Given the description of an element on the screen output the (x, y) to click on. 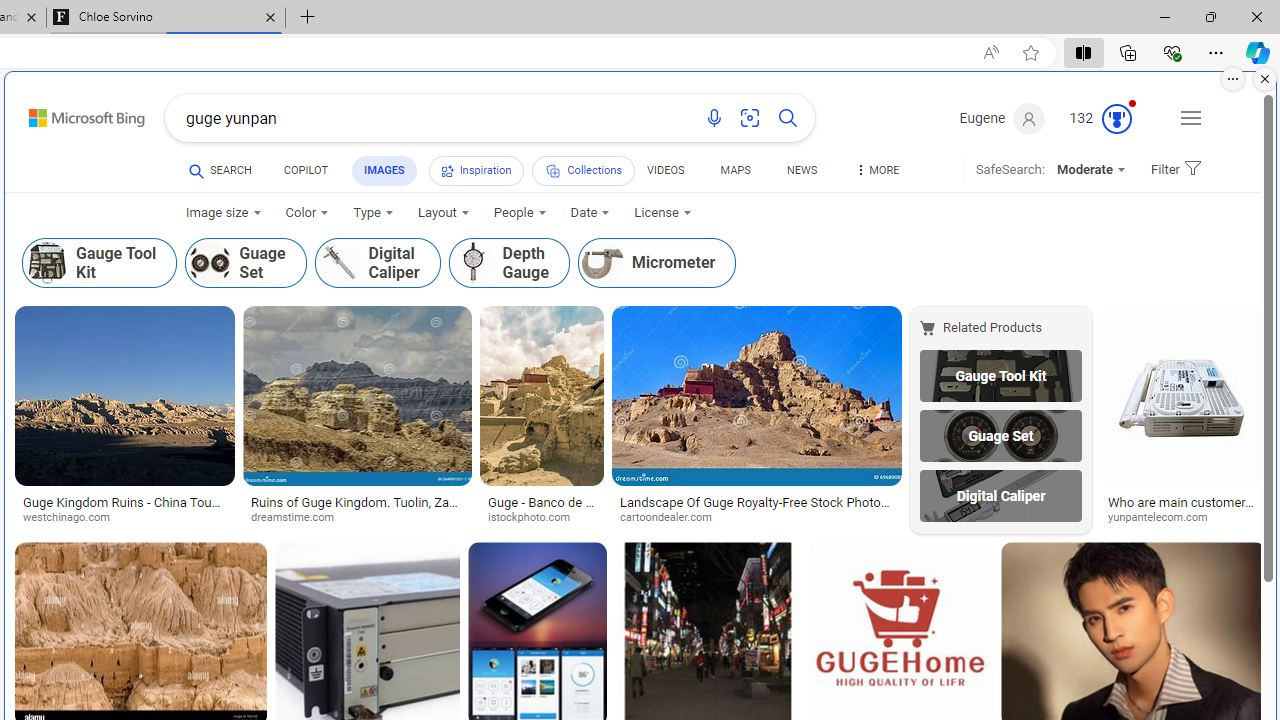
VIDEOS (665, 170)
InspirationCollections (530, 173)
westchinago.com (124, 517)
Gauge Tool Kit (1000, 375)
Image size (223, 213)
Inspiration (475, 170)
License (663, 213)
Back to Bing search (74, 113)
Class: medal-circled (1116, 118)
istockphoto.com (541, 517)
